Given the description of an element on the screen output the (x, y) to click on. 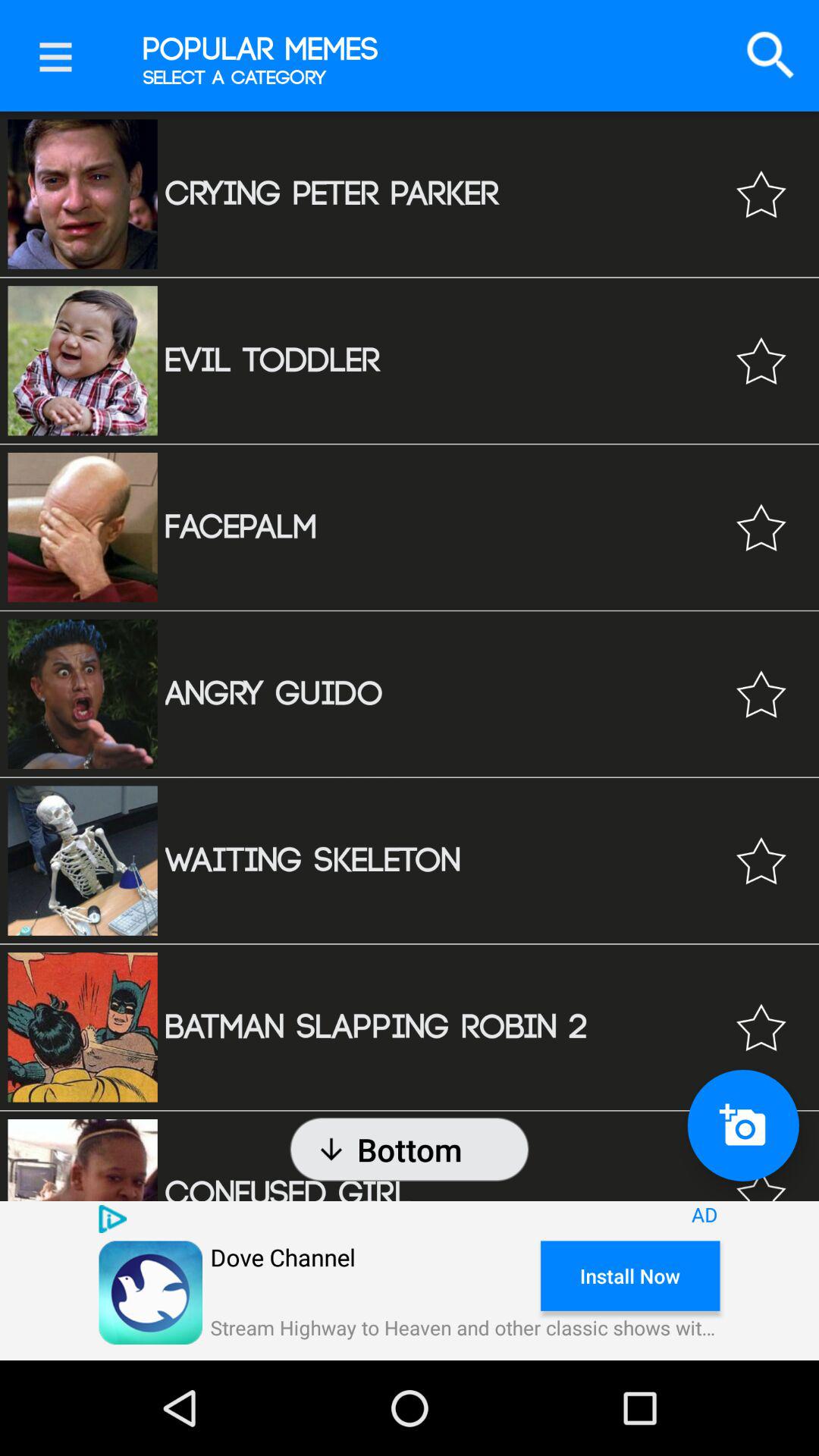
favorite (761, 360)
